Given the description of an element on the screen output the (x, y) to click on. 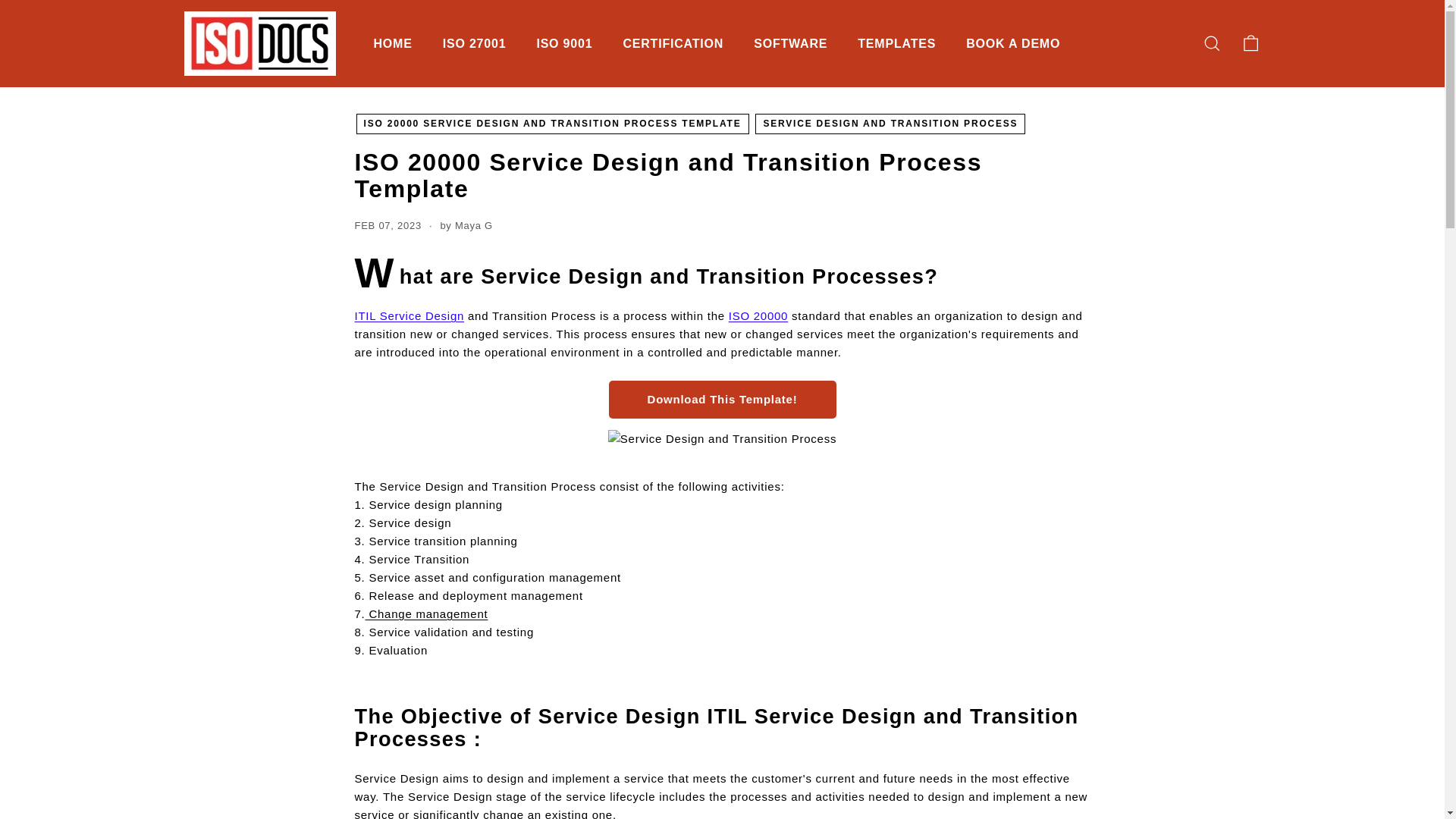
BOOK A DEMO (1012, 44)
ISO 9001 (564, 44)
CERTIFICATION (672, 44)
SOFTWARE (790, 44)
ISO 27001 (474, 44)
TEMPLATES (896, 44)
HOME (392, 44)
